Given the description of an element on the screen output the (x, y) to click on. 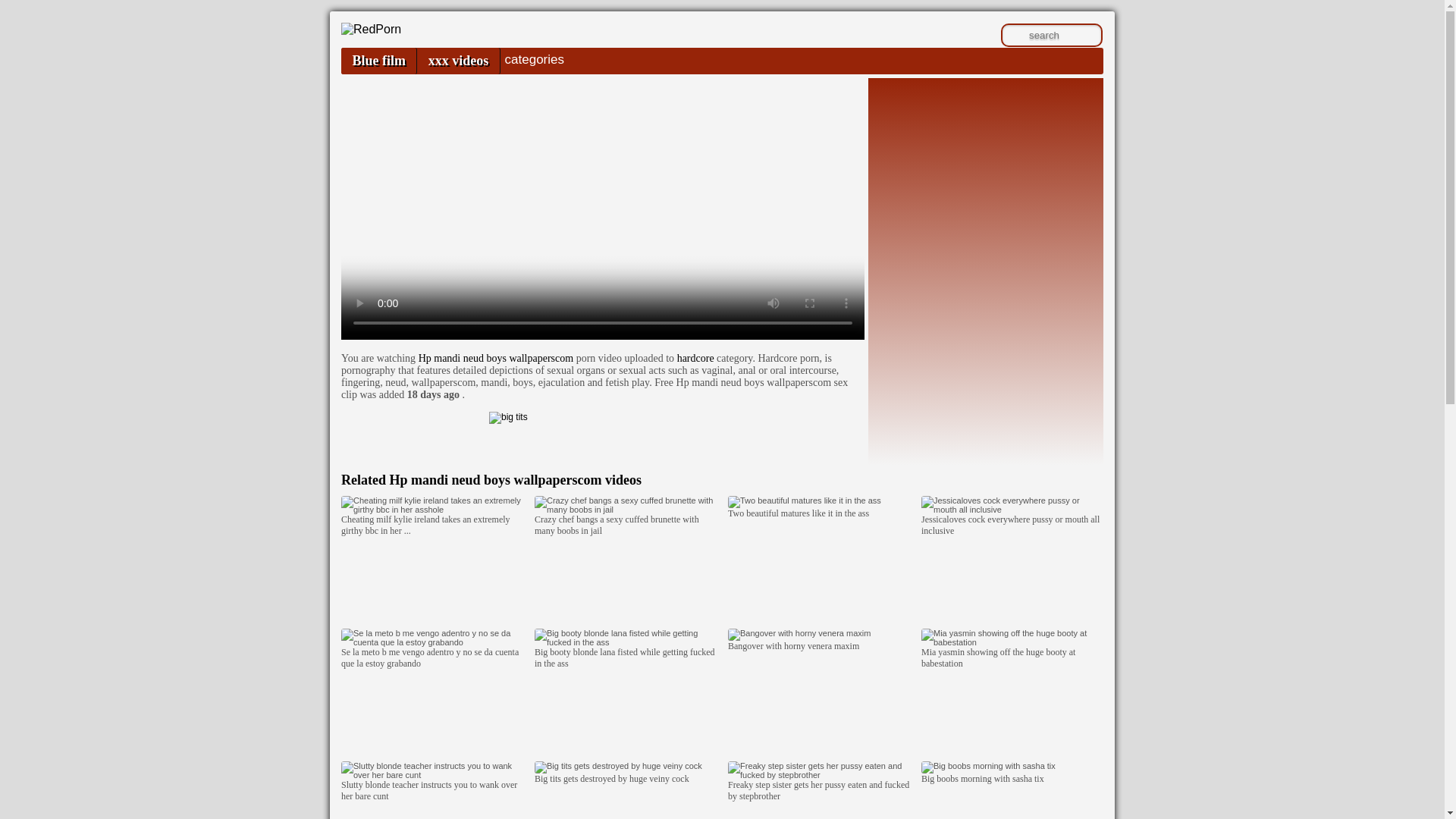
Hp mandi neud boys wallpaperscom videos (515, 479)
categories (533, 59)
Blue film (378, 60)
xxx videos (457, 60)
xxx videos (457, 60)
Blue film (378, 60)
Hp mandi neud boys wallpaperscom (496, 357)
hardcore (695, 357)
Indian Porn (370, 29)
